Given the description of an element on the screen output the (x, y) to click on. 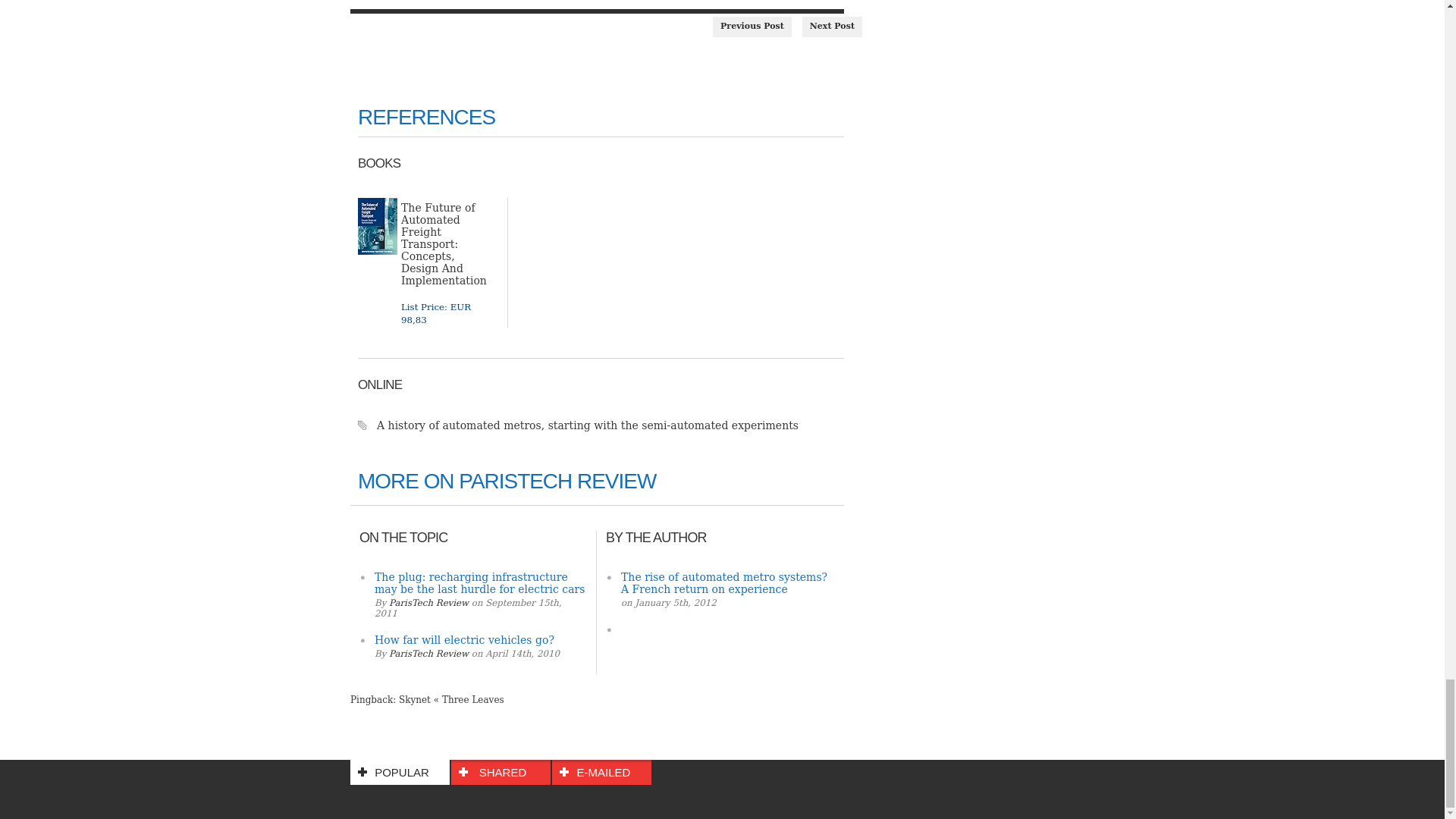
Posts by ParisTech Review (428, 602)
Posts by ParisTech Review (428, 653)
